Given the description of an element on the screen output the (x, y) to click on. 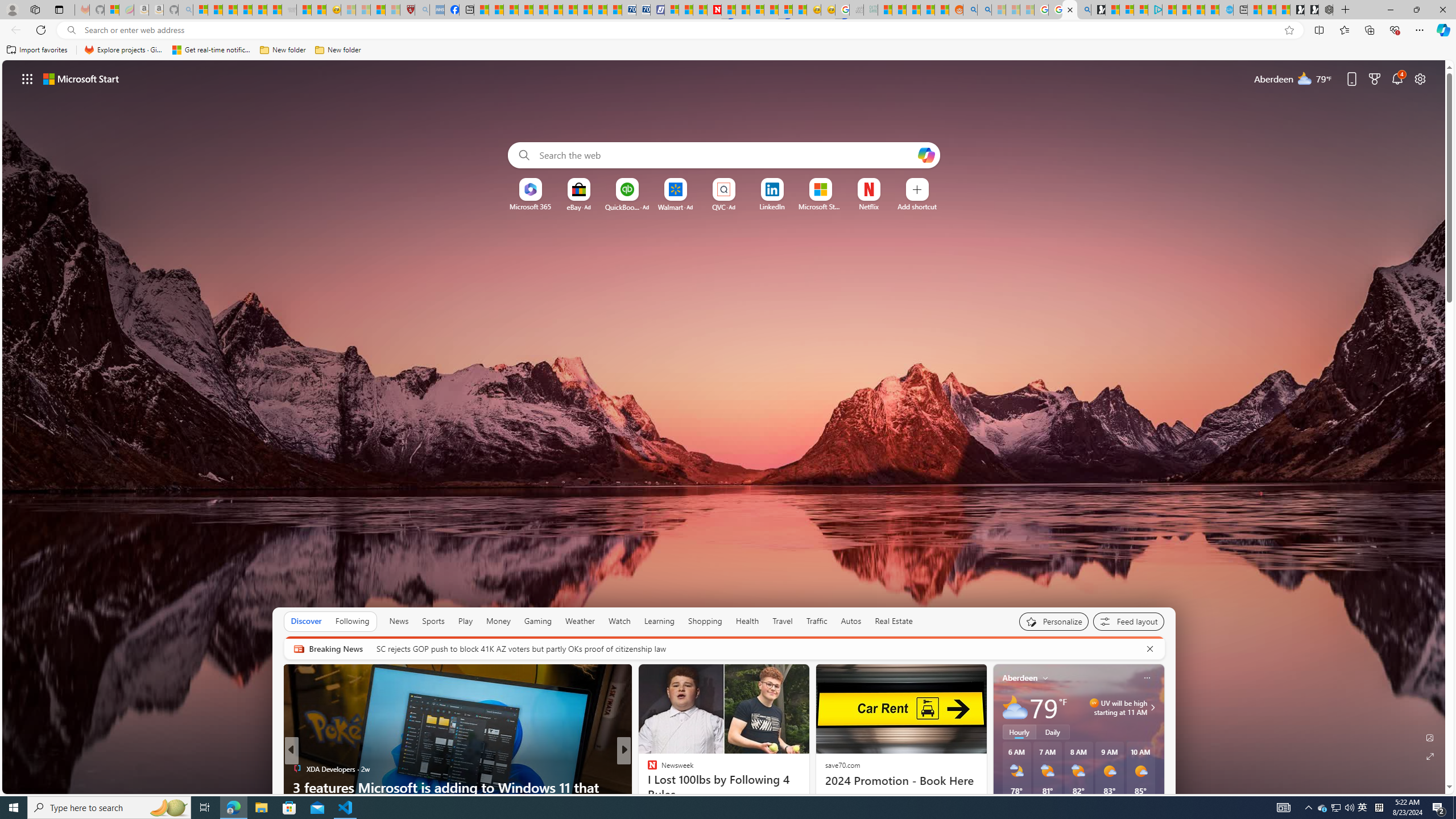
Inquirer (647, 786)
AutomationID: backgroundImagePicture (723, 426)
New folder (337, 49)
Combat Siege - Sleeping (288, 9)
INSIDER (647, 768)
Import favorites (36, 49)
Bing Real Estate - Home sales and rental listings (1083, 9)
Mostly cloudy (1014, 707)
